Given the description of an element on the screen output the (x, y) to click on. 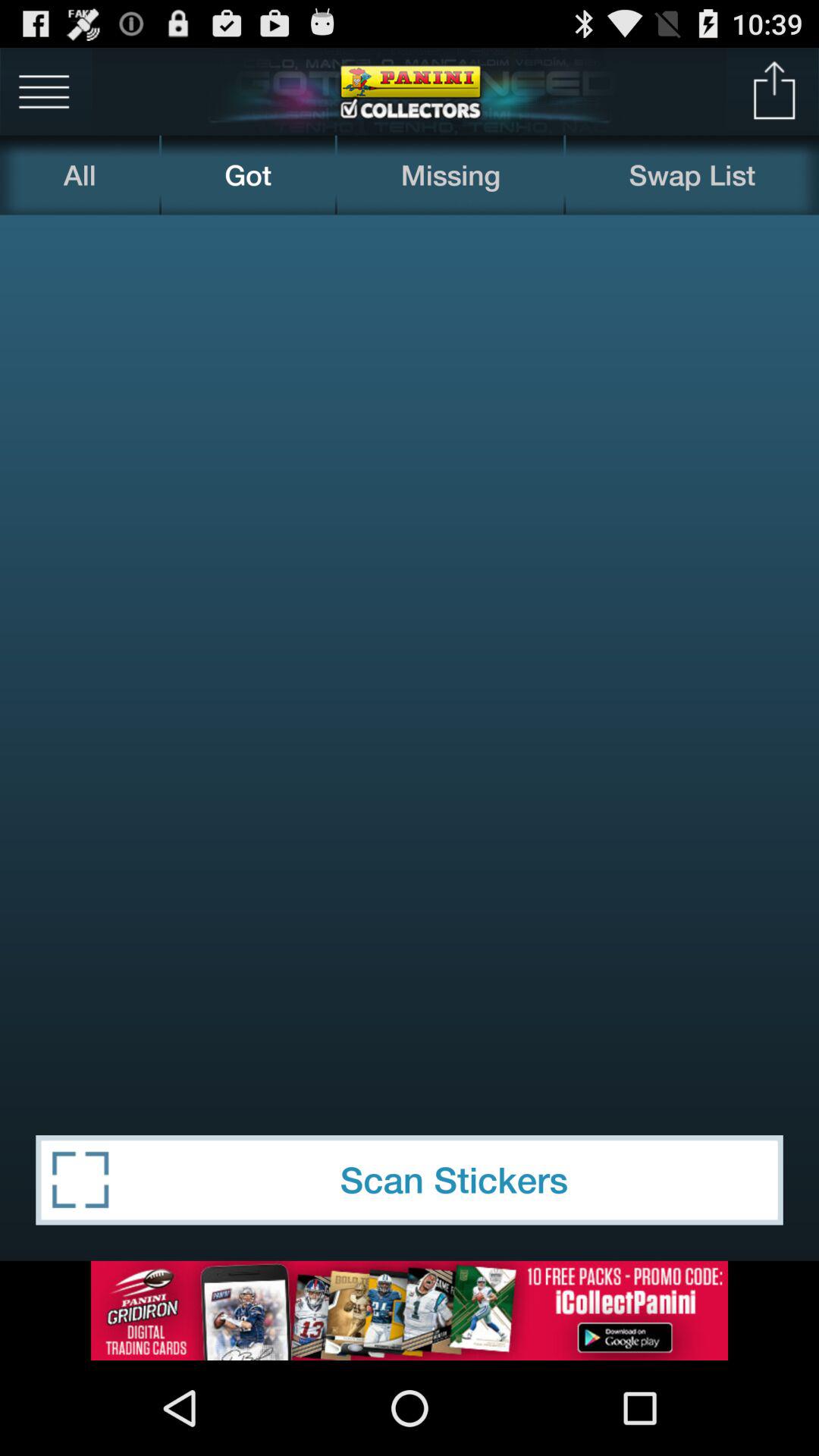
turn on icon above the swap list icon (774, 91)
